Given the description of an element on the screen output the (x, y) to click on. 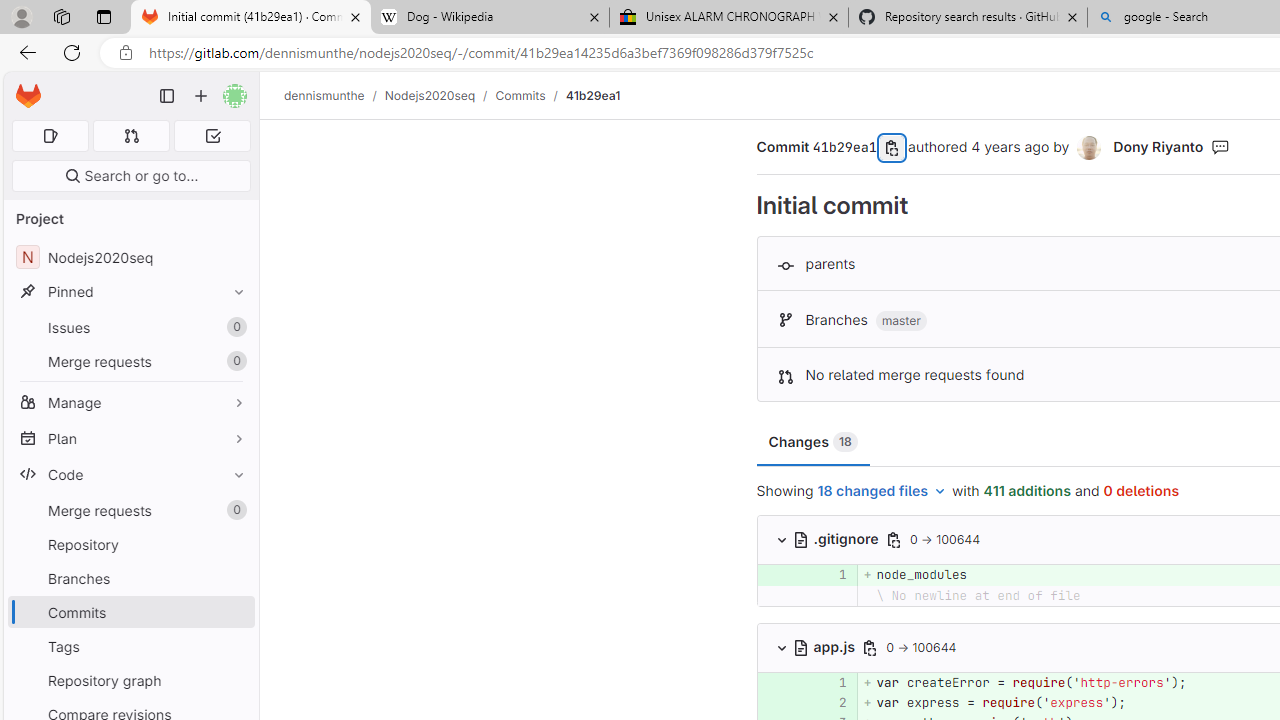
Class: s16 gl-icon gl-button-icon  (870, 647)
